Given the description of an element on the screen output the (x, y) to click on. 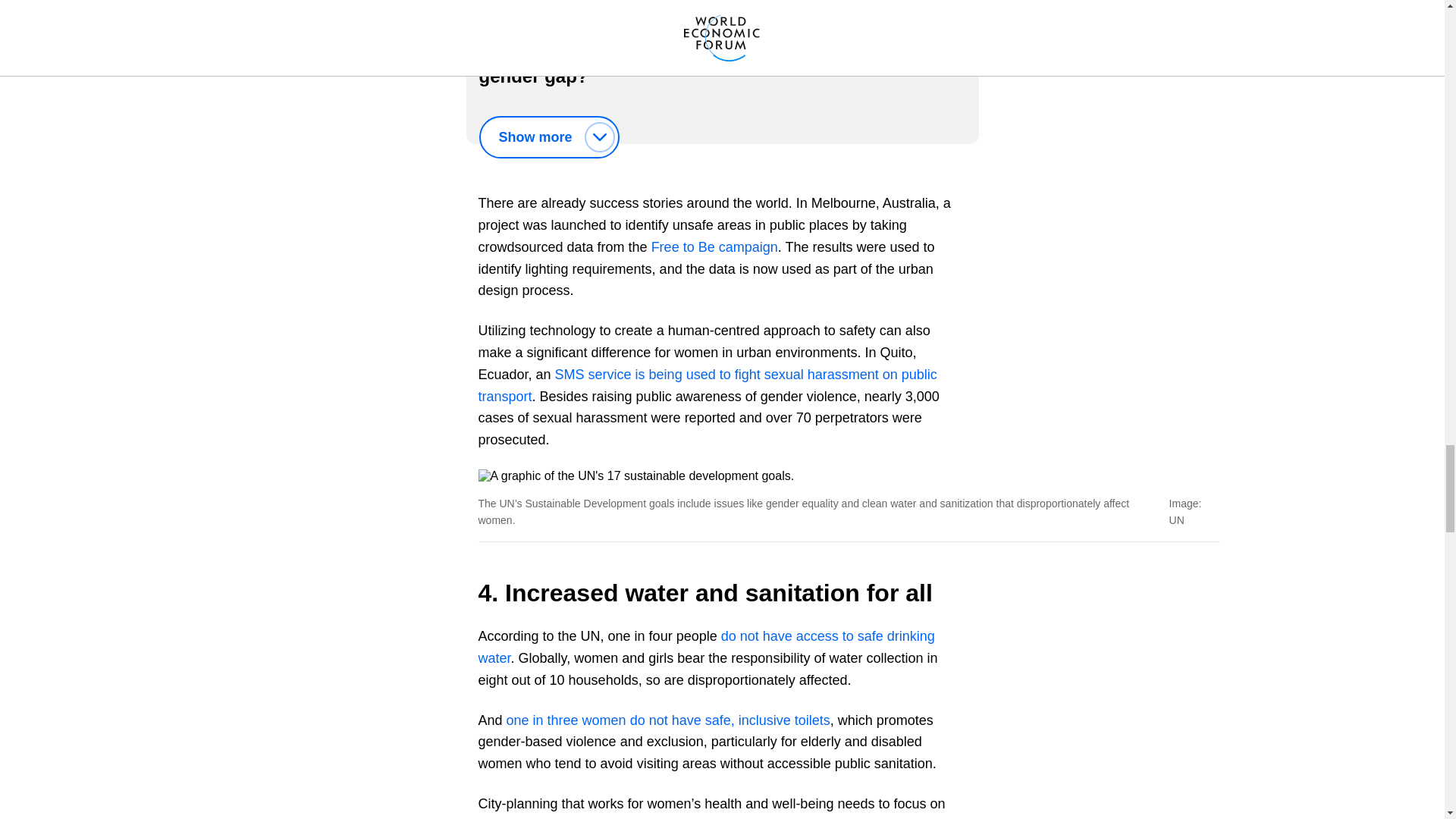
Free to Be campaign (713, 246)
one in three women do not have safe, inclusive toilets (667, 720)
do not have access to safe drinking water (705, 646)
Show more (549, 137)
